Given the description of an element on the screen output the (x, y) to click on. 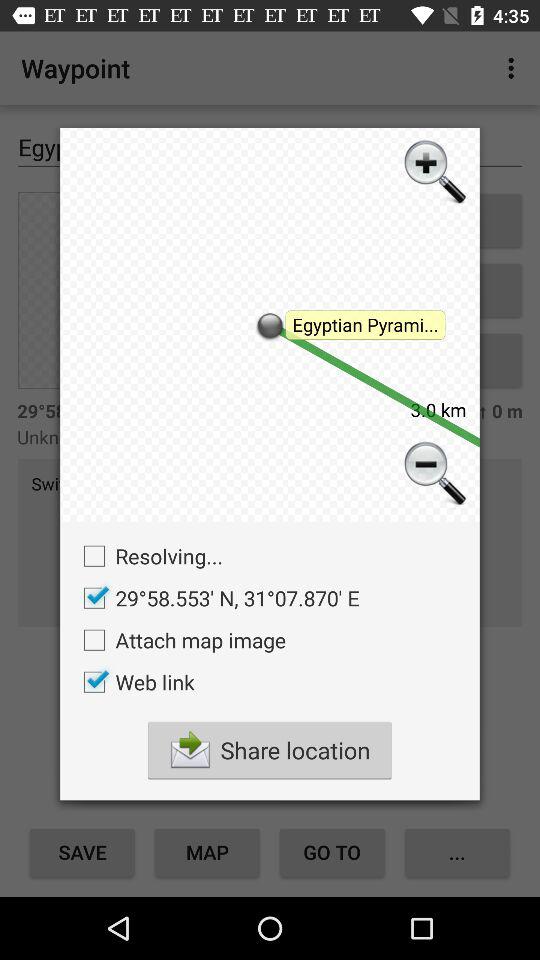
turn off button above the share location icon (133, 682)
